Given the description of an element on the screen output the (x, y) to click on. 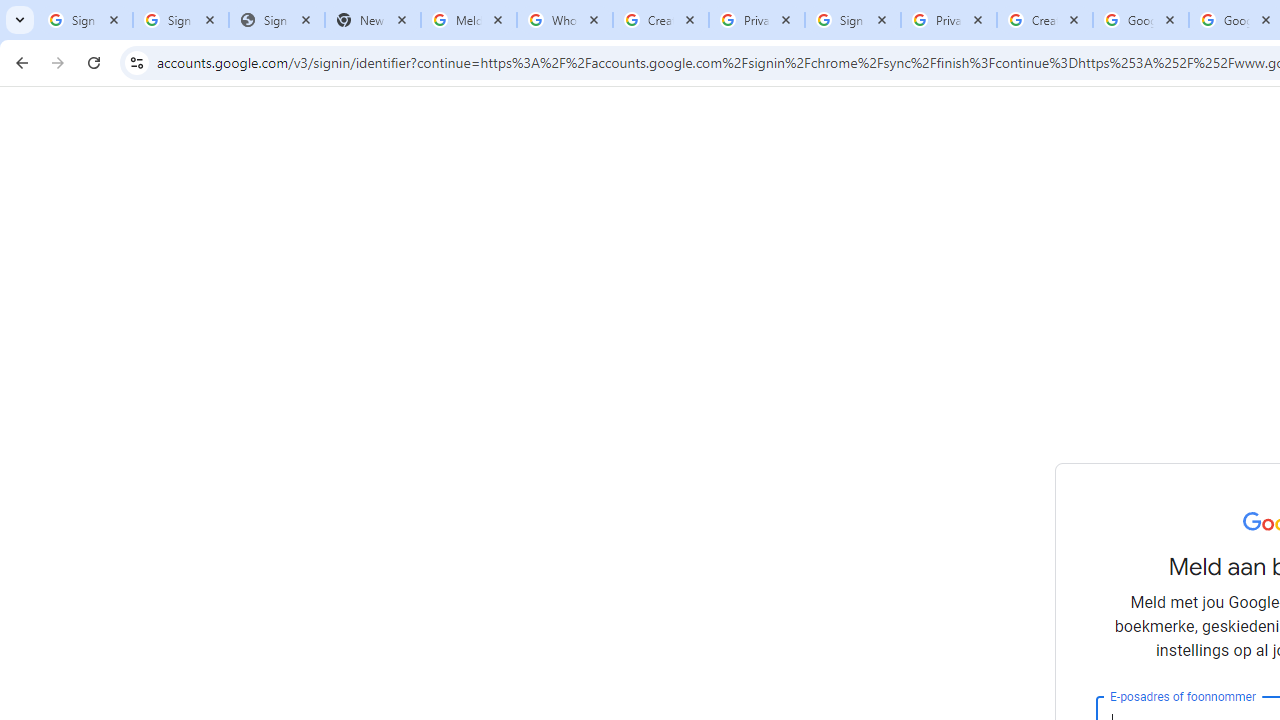
Create your Google Account (661, 20)
Sign in - Google Accounts (853, 20)
Sign in - Google Accounts (85, 20)
Sign In - USA TODAY (277, 20)
New Tab (373, 20)
Who is my administrator? - Google Account Help (565, 20)
Create your Google Account (1045, 20)
Sign in - Google Accounts (181, 20)
